Given the description of an element on the screen output the (x, y) to click on. 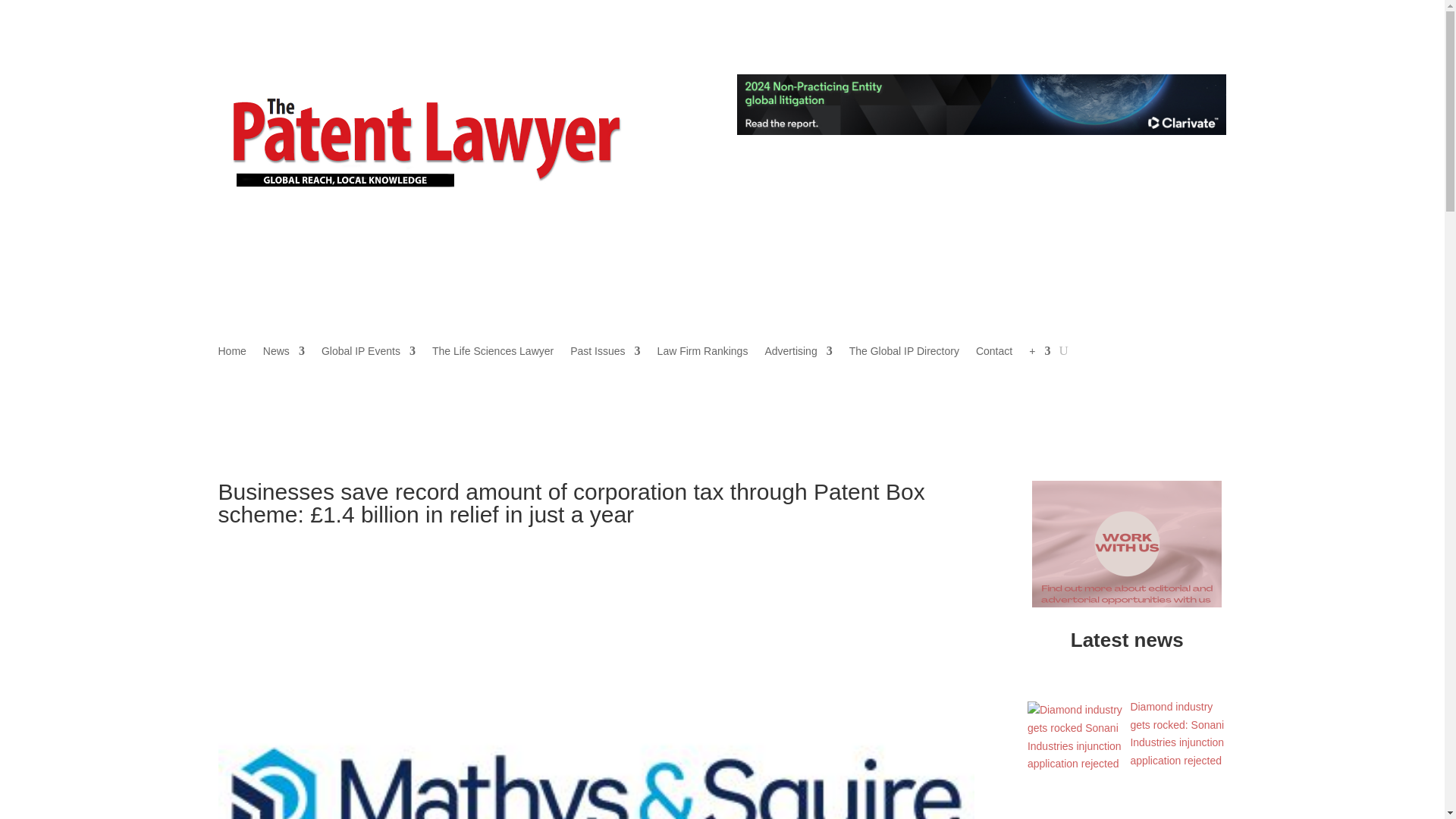
Home (232, 353)
Law Firm Rankings (703, 353)
The Life Sciences Lawyer (492, 353)
Global IP Events (367, 353)
Past Issues (605, 353)
Advertising (797, 353)
The Global IP Directory (903, 353)
Contact (993, 353)
News (283, 353)
The Patent Lawyer Logo (462, 132)
